Given the description of an element on the screen output the (x, y) to click on. 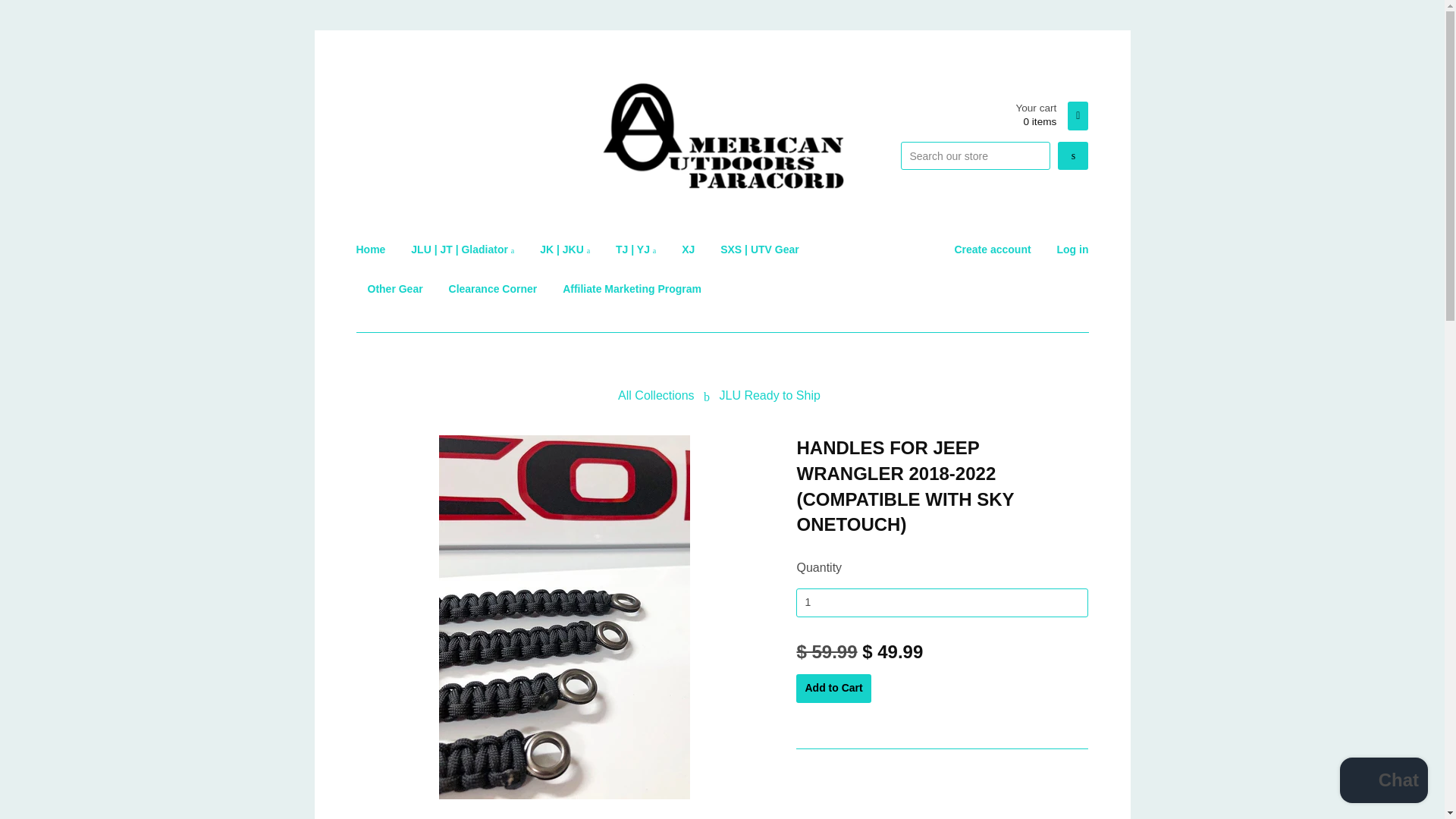
Home (376, 249)
Add to Cart (1050, 115)
Shopify online store chat (833, 688)
JLU Ready to Ship (1383, 781)
Create account (770, 395)
1 (992, 249)
Search (941, 602)
Log in (1072, 155)
All Collections (1066, 249)
